Given the description of an element on the screen output the (x, y) to click on. 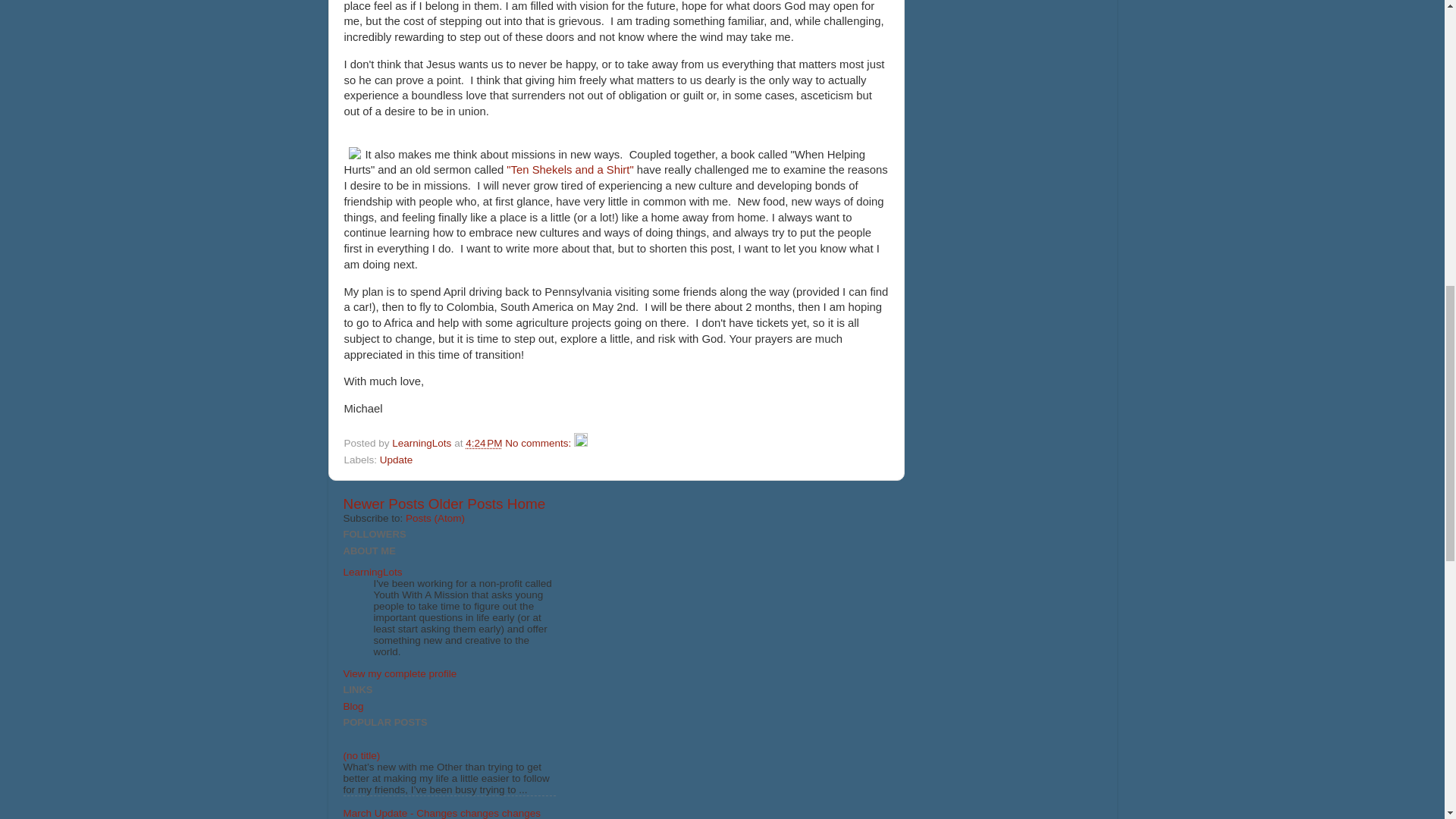
Home (525, 503)
permanent link (483, 442)
Blog (352, 706)
Newer Posts (382, 503)
LearningLots (422, 442)
Older Posts (465, 503)
"Ten Shekels and a Shirt" (569, 169)
author profile (422, 442)
Newer Posts (382, 503)
LearningLots (371, 572)
Edit Post (580, 442)
View my complete profile (399, 673)
March Update - Changes changes changes (441, 813)
No comments: (539, 442)
